Given the description of an element on the screen output the (x, y) to click on. 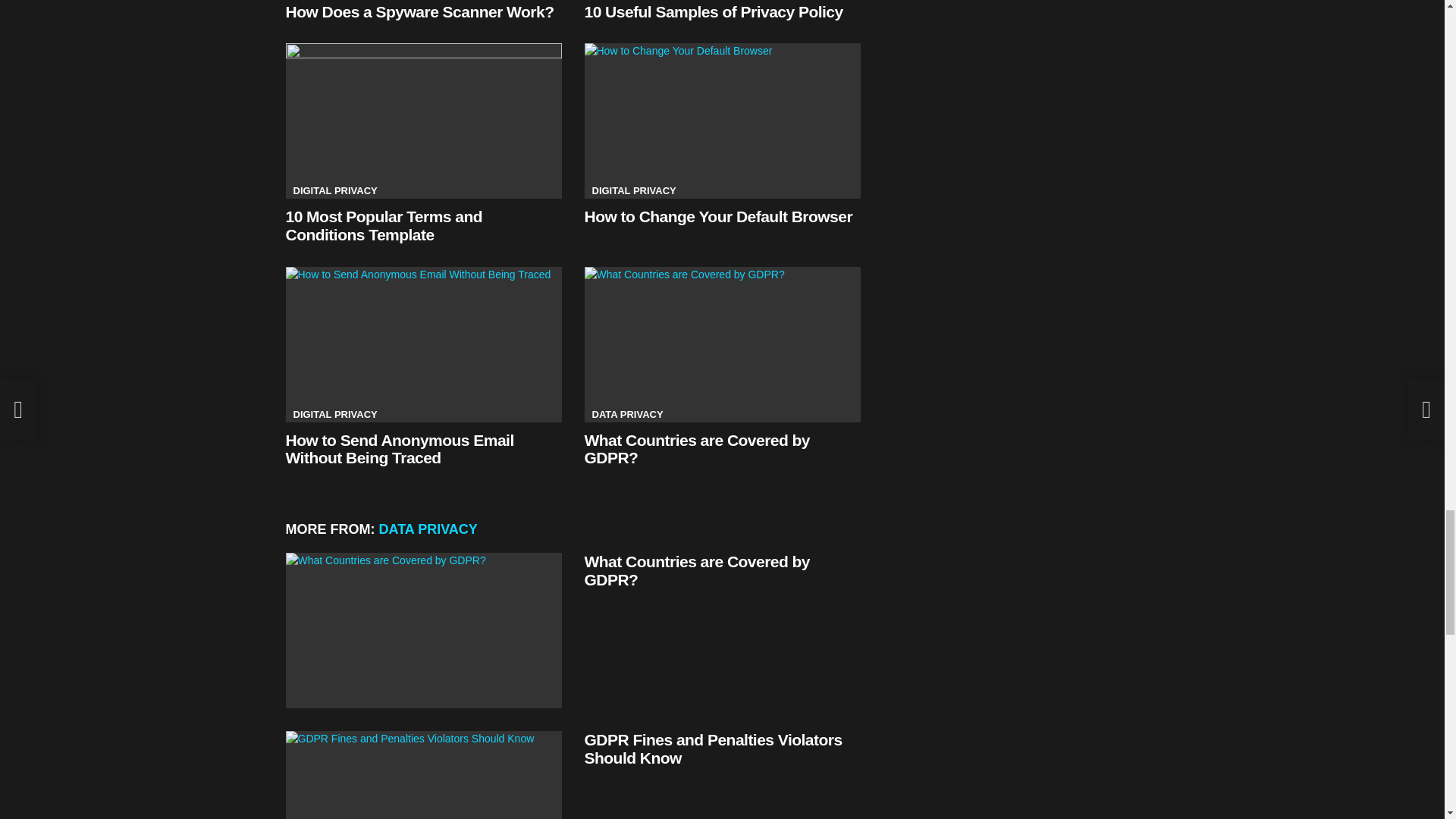
10 Most Popular Terms and Conditions Template (383, 225)
10 Useful Samples of Privacy Policy (713, 11)
How to Change Your Default Browser (721, 121)
DATA PRIVACY (626, 414)
GDPR Fines and Penalties Violators Should Know (712, 748)
What Countries are Covered by GDPR? (696, 448)
How Does a Spyware Scanner Work? (419, 11)
How to Change Your Default Browser (717, 216)
How to Send Anonymous Email Without Being Traced (399, 448)
How to Send Anonymous Email Without Being Traced (422, 344)
